Given the description of an element on the screen output the (x, y) to click on. 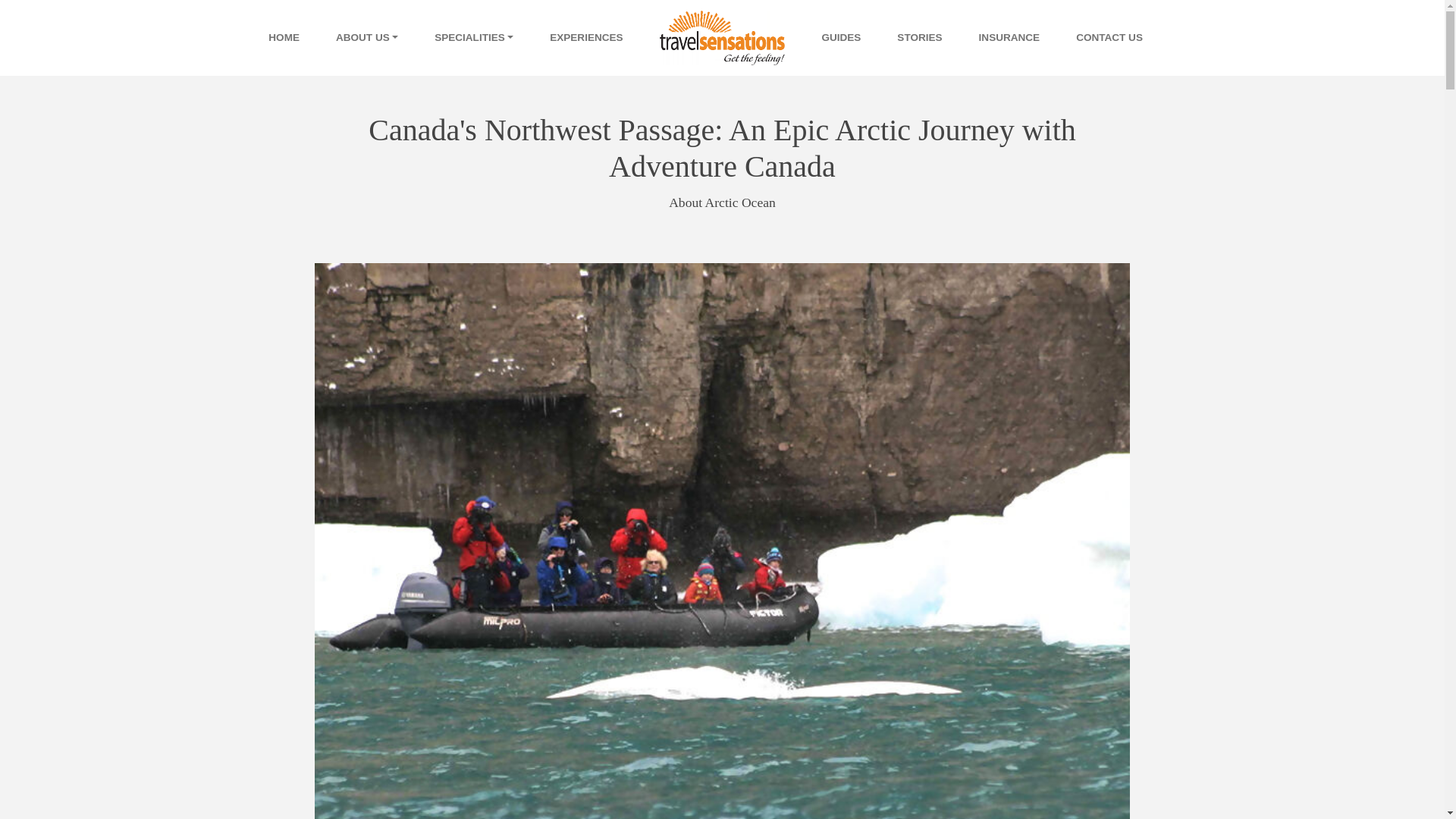
INSURANCE (1009, 38)
STORIES (919, 38)
HOME (283, 38)
EXPERIENCES (585, 38)
CONTACT US (1109, 38)
SPECIALITIES (473, 38)
ABOUT US (366, 38)
GUIDES (841, 38)
